Given the description of an element on the screen output the (x, y) to click on. 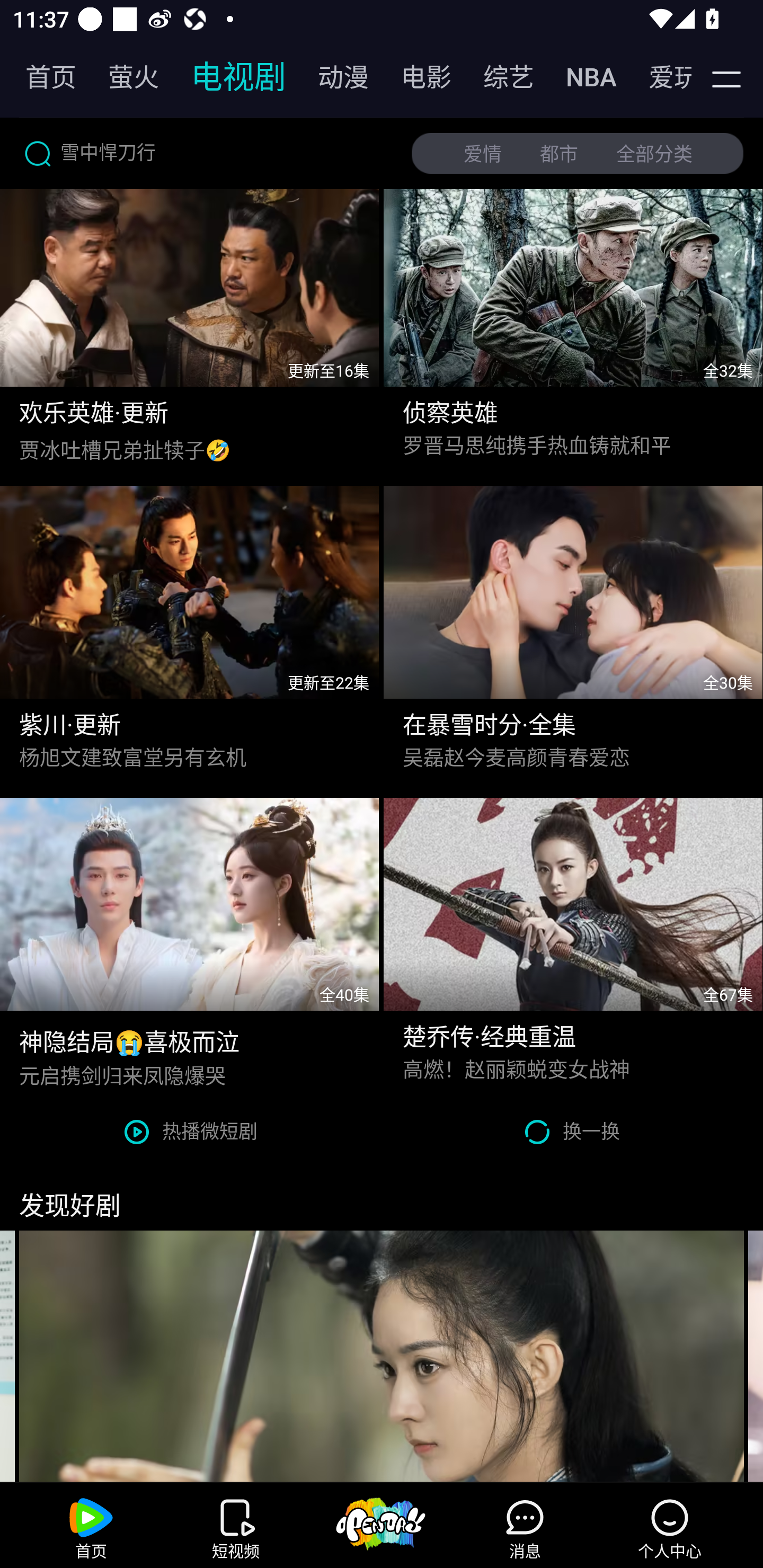
首页 (41, 77)
萤火 (123, 77)
电视剧 (228, 77)
动漫 (333, 77)
电影 (416, 77)
综艺 (498, 77)
NBA (581, 77)
爱玩 (657, 77)
雪中悍刀行 (207, 152)
爱情 (482, 153)
都市 (559, 153)
全部分类 (654, 153)
欢乐英雄·更新,更新至16集,链接 欢乐英雄·更新 贾冰吐槽兄弟扯犊子🤣 (189, 332)
侦察英雄,全32集,链接 侦察英雄 罗晋马思纯携手热血铸就和平 (572, 332)
紫川·更新,更新至22集,链接 紫川·更新 杨旭文建致富堂另有玄机 (189, 632)
在暴雪时分·全集,全30集,链接 在暴雪时分·全集 吴磊赵今麦高颜青春爱恋 (572, 632)
神隐结局😭喜极而泣,全40集,链接 神隐结局😭喜极而泣 元启携剑归来凤隐爆哭 (189, 944)
楚乔传·经典重温,全67集,链接 楚乔传·经典重温 高燃！赵丽颖蜕变女战神 (572, 944)
热播微短剧 (190, 1131)
换一换 (572, 1131)
发现好剧 (381, 1196)
